Given the description of an element on the screen output the (x, y) to click on. 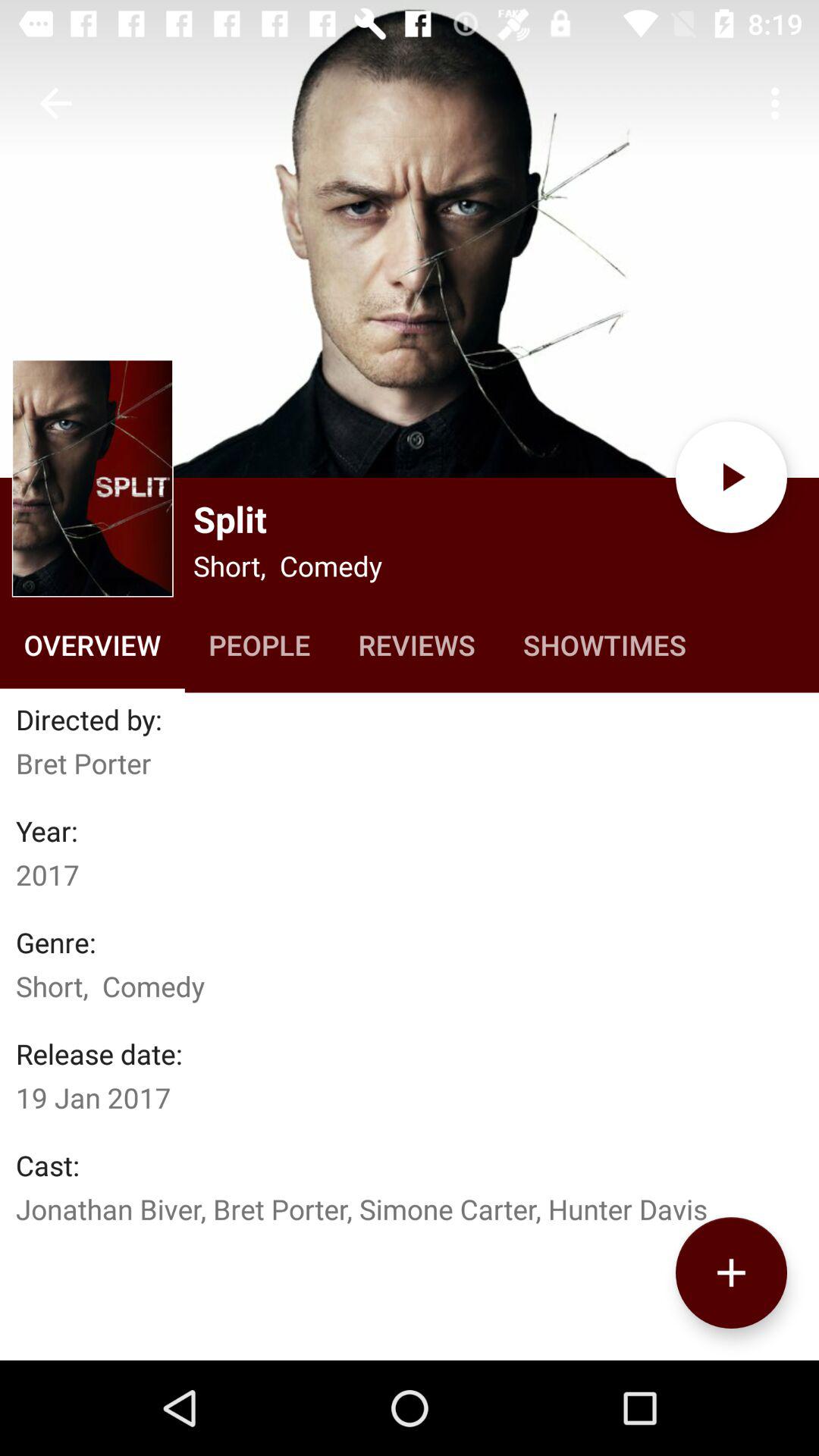
turn on the icon at the bottom right corner (731, 1272)
